Given the description of an element on the screen output the (x, y) to click on. 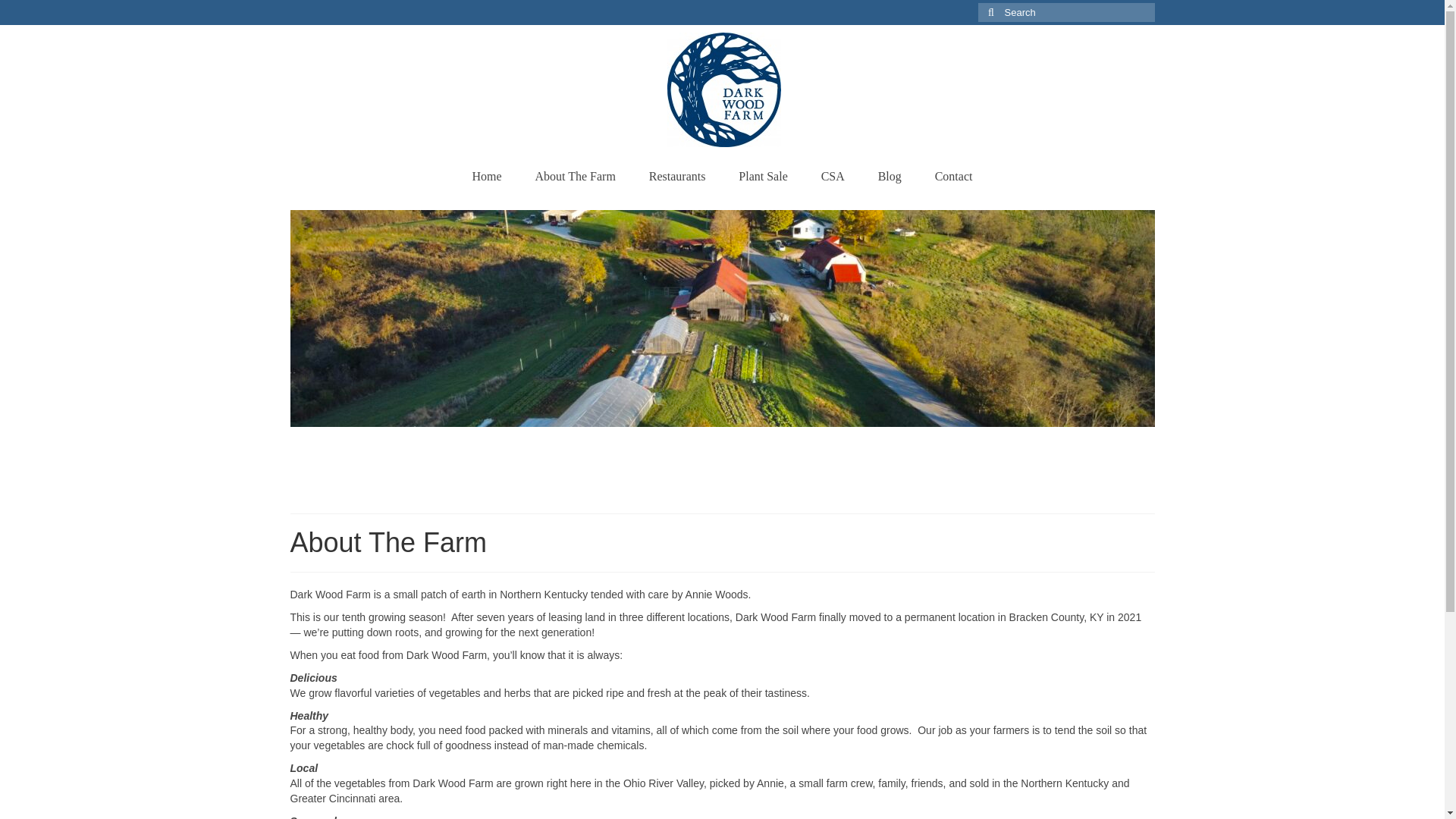
About The Farm (574, 176)
Plant Sale (762, 176)
Home (486, 176)
Restaurants (676, 176)
Blog (890, 176)
CSA (833, 176)
Contact (954, 176)
